Given the description of an element on the screen output the (x, y) to click on. 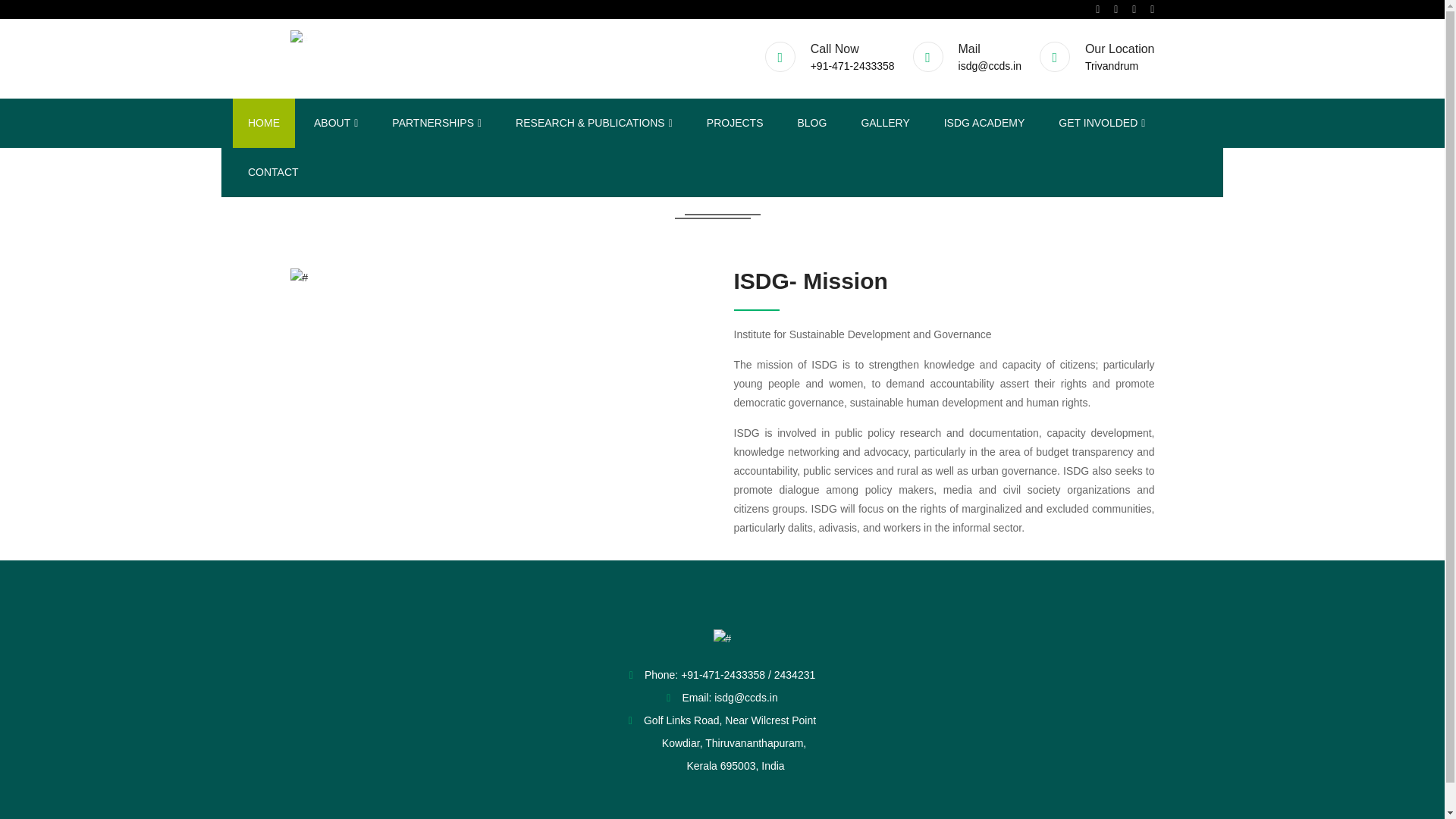
CONTACT (273, 172)
GALLERY (884, 123)
PROJECTS (734, 123)
HOME (263, 123)
BLOG (811, 123)
PARTNERSHIPS (436, 123)
ABOUT (335, 123)
ISDG ACADEMY (984, 123)
GET INVOLDED (1101, 123)
